Given the description of an element on the screen output the (x, y) to click on. 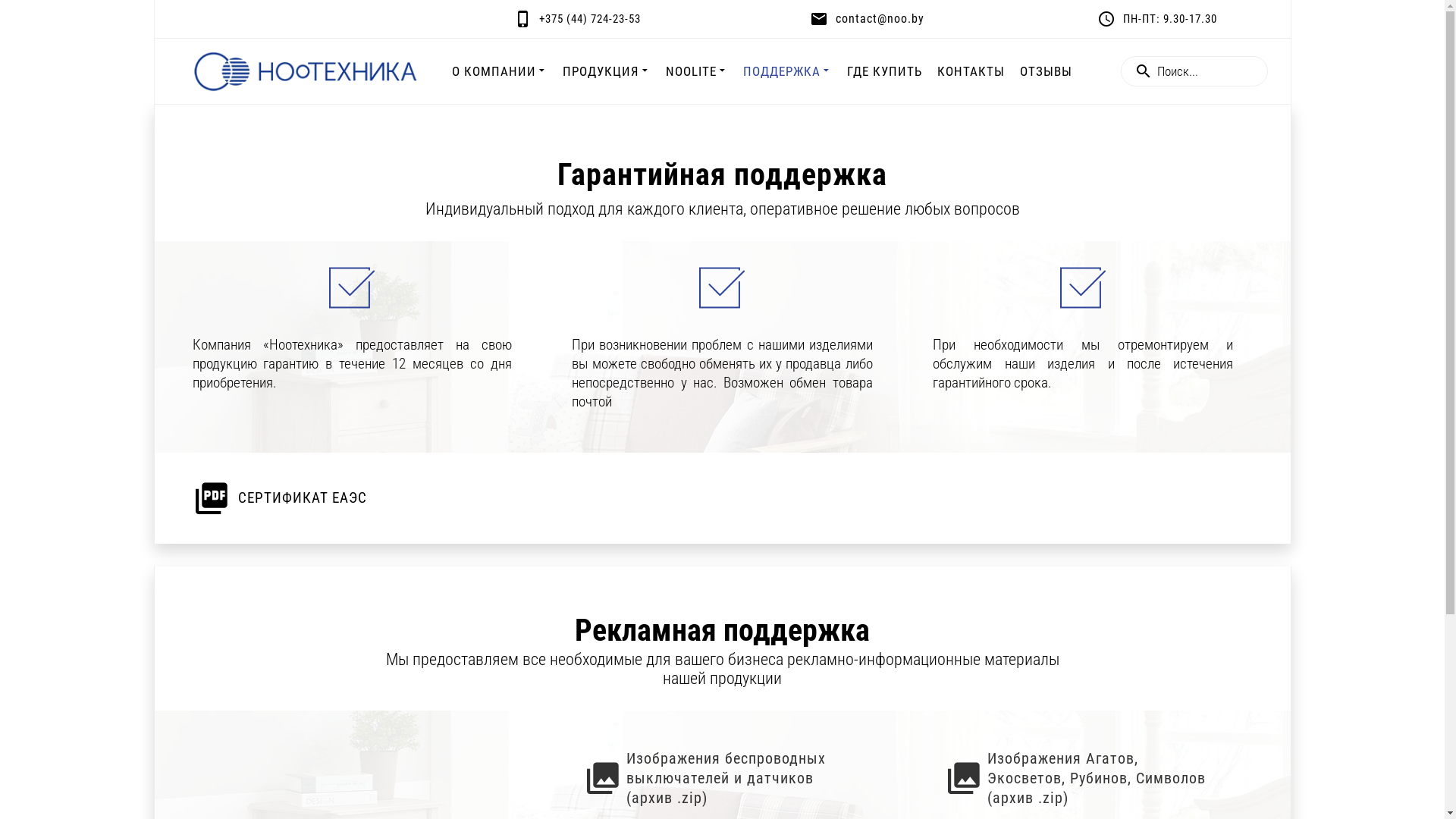
contact@noo.by Element type: text (866, 18)
+375 (44) 724-23-53 Element type: text (576, 18)
NOOLITE Element type: text (696, 71)
